Given the description of an element on the screen output the (x, y) to click on. 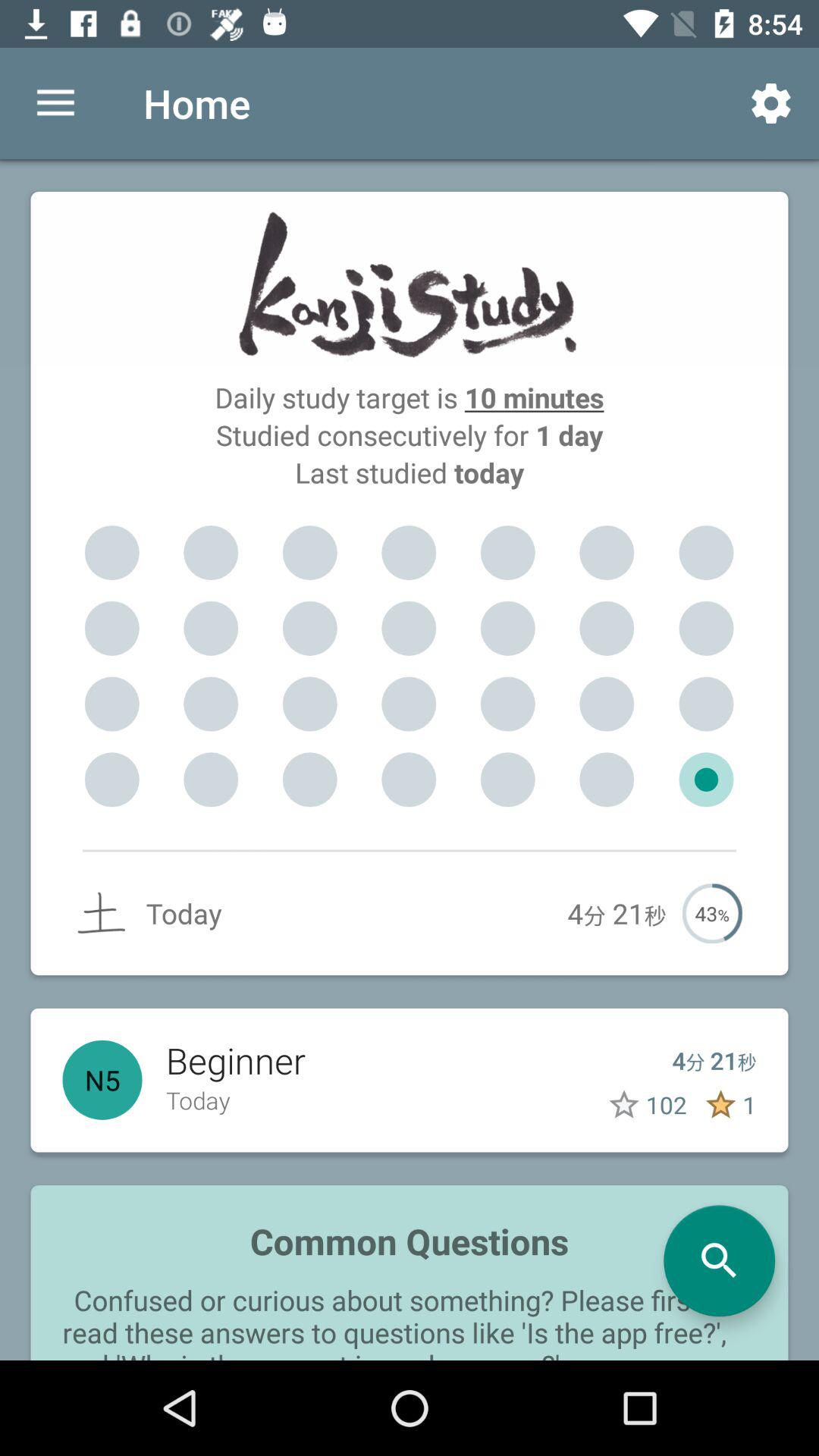
turn off the icon below the last studied today icon (706, 552)
